Given the description of an element on the screen output the (x, y) to click on. 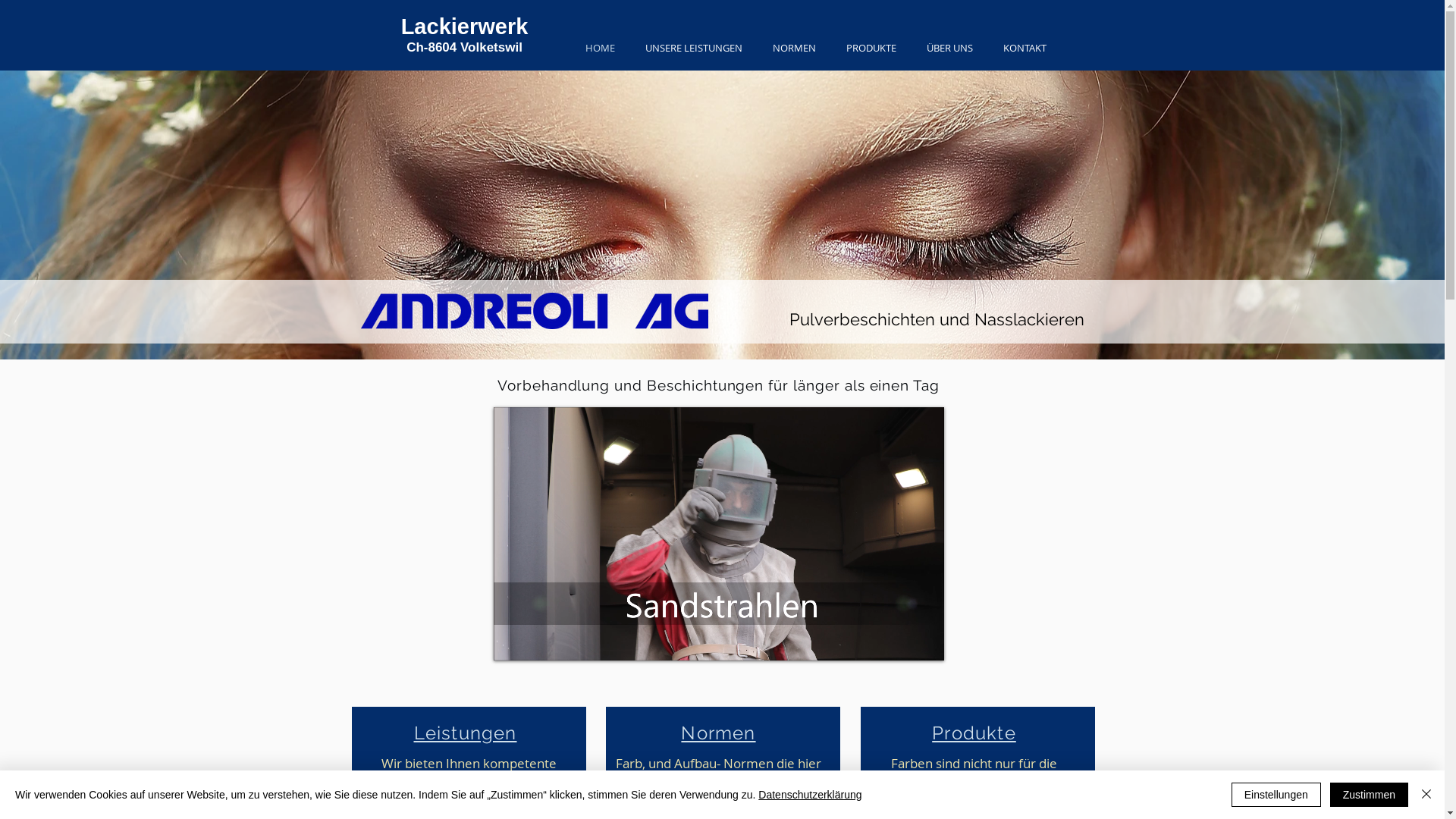
NORMEN Element type: text (793, 47)
PRODUKTE Element type: text (871, 47)
Leistungen Element type: text (465, 732)
Zustimmen Element type: text (1369, 794)
Einstellungen Element type: text (1276, 794)
Normen Element type: text (717, 732)
UNSERE LEISTUNGEN Element type: text (692, 47)
Lackierwerk Element type: text (464, 26)
Produkte Element type: text (973, 732)
HOME Element type: text (600, 47)
KONTAKT Element type: text (1023, 47)
